Given the description of an element on the screen output the (x, y) to click on. 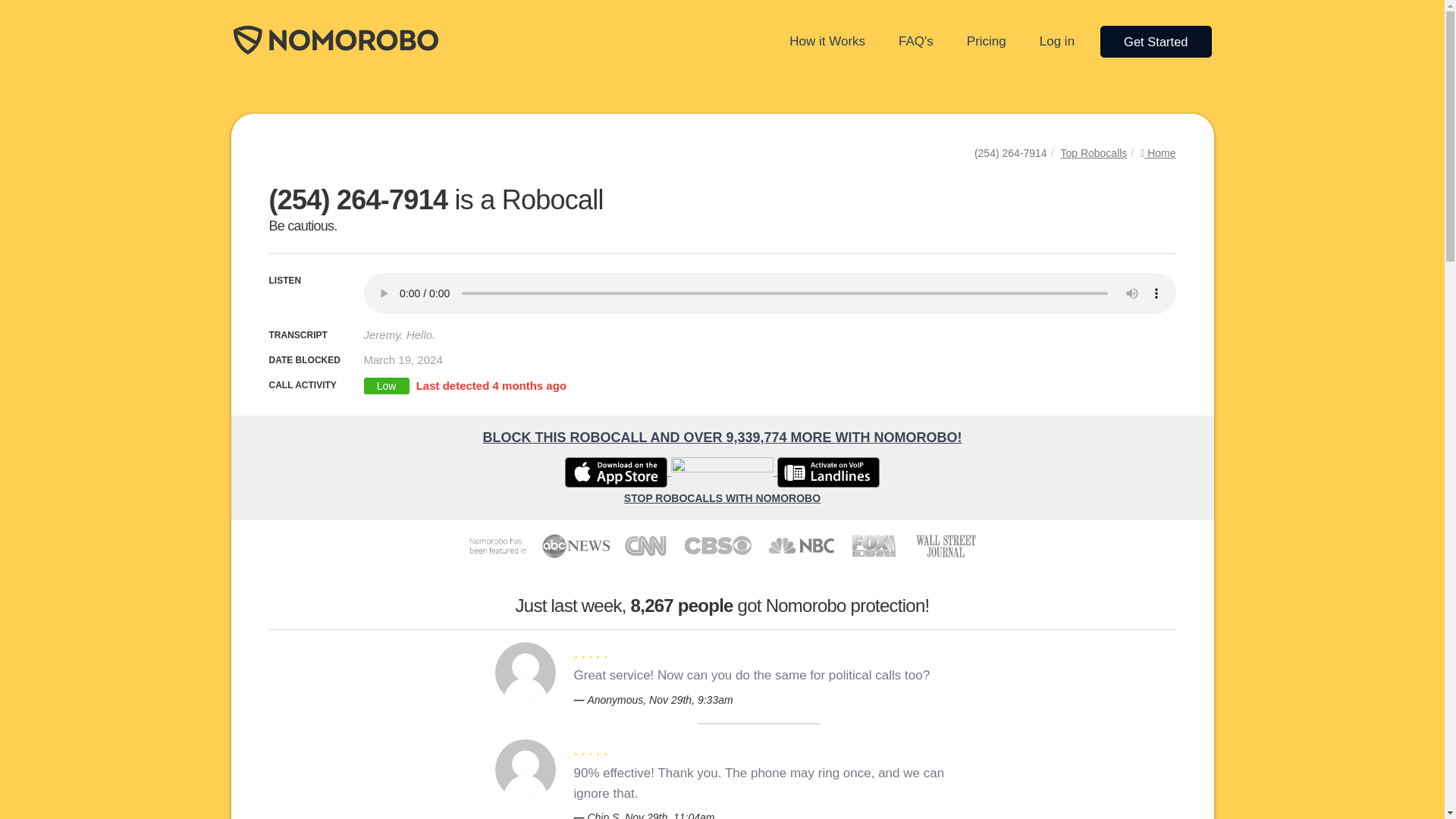
Top Robocalls (1092, 152)
FAQ's (915, 41)
Get Started (1155, 41)
How it Works (826, 41)
Log in (1056, 41)
BLOCK THIS ROBOCALL AND OVER 9,339,774 MORE WITH NOMOROBO! (721, 437)
Pricing (986, 41)
Home (1157, 152)
